Given the description of an element on the screen output the (x, y) to click on. 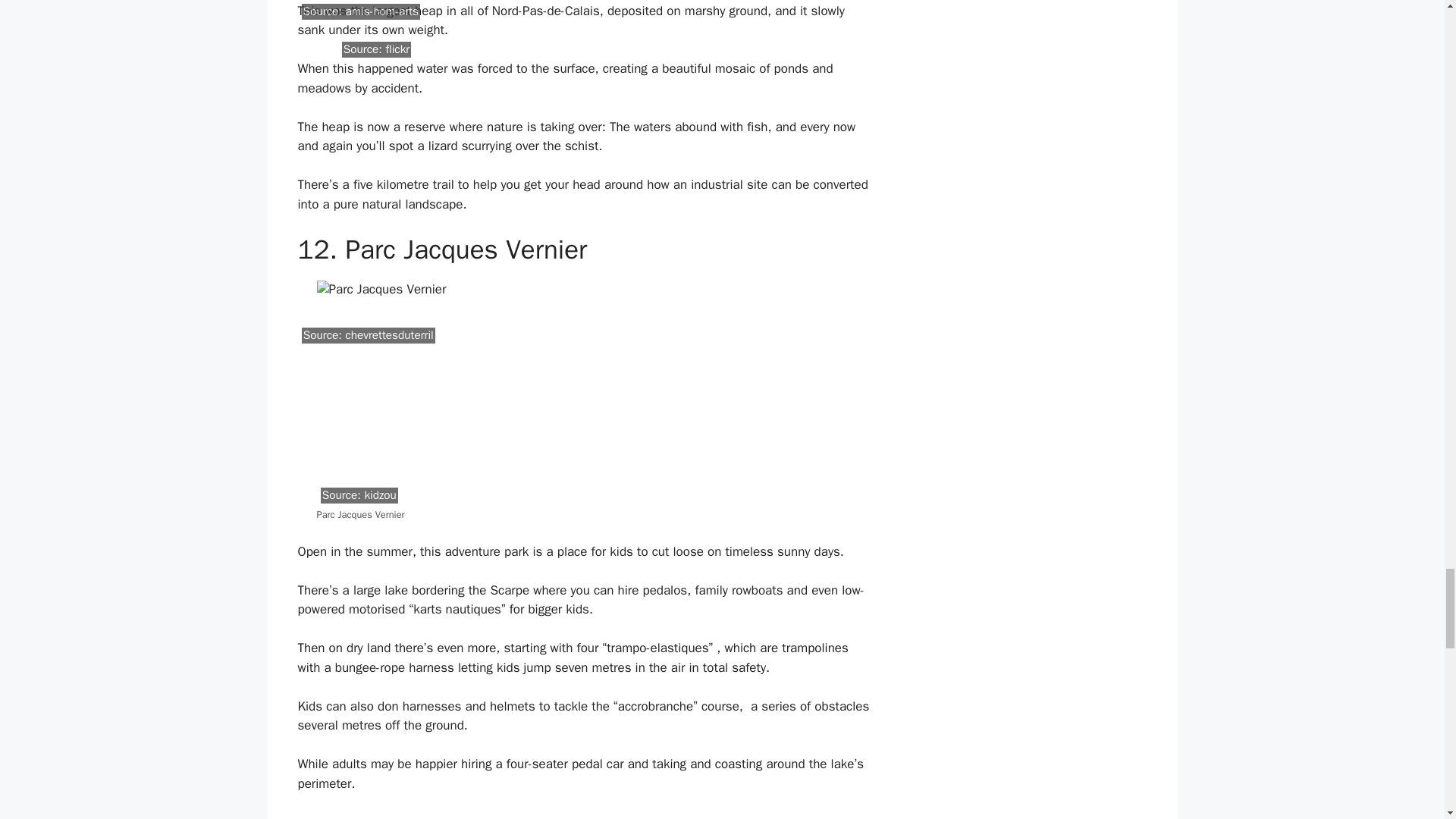
flickr (397, 48)
